Given the description of an element on the screen output the (x, y) to click on. 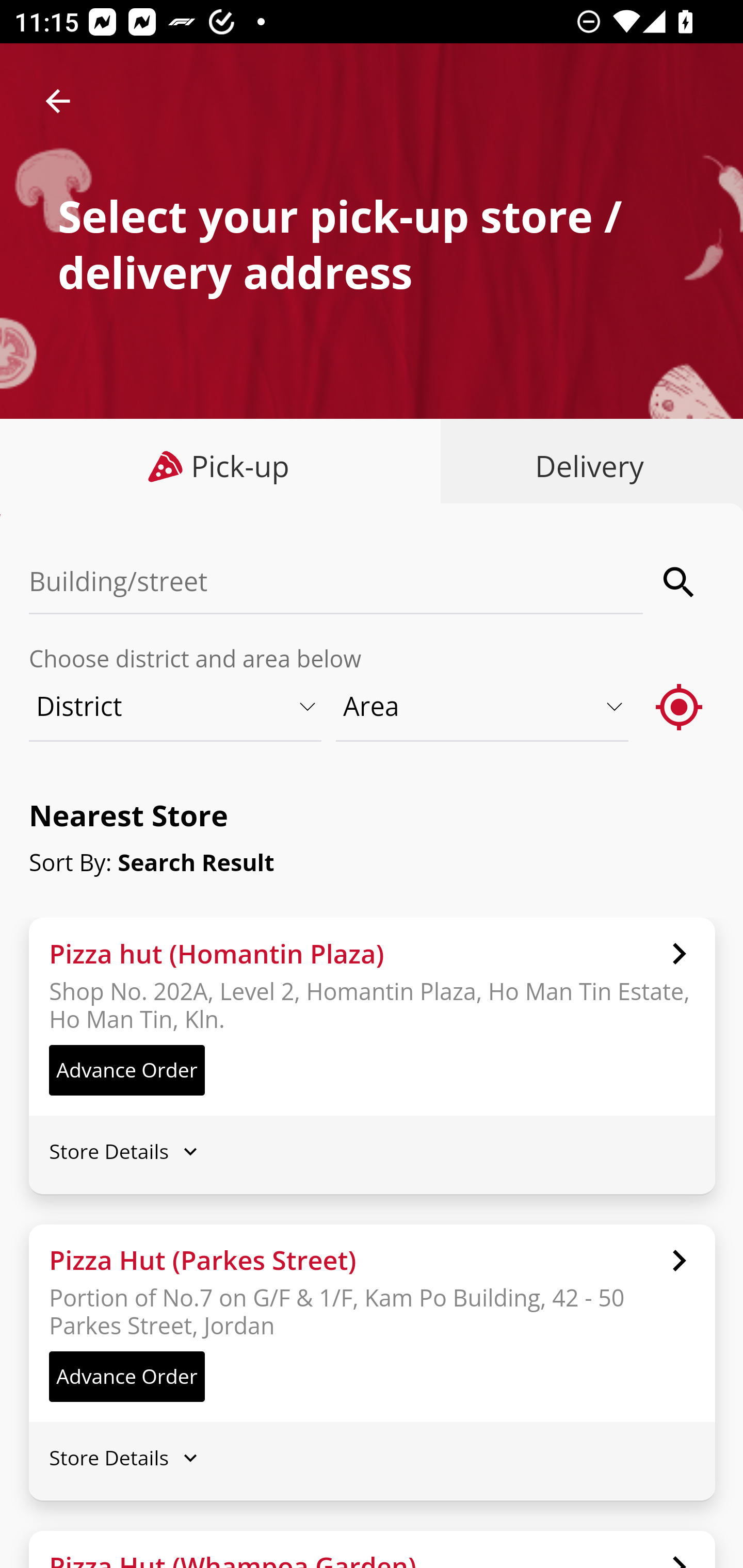
arrow_back (58, 100)
Pick-up (221, 466)
Delivery (585, 466)
search (679, 582)
gps_fixed (679, 706)
District (175, 706)
Area (482, 706)
Store Details (371, 1149)
Store Details (371, 1457)
